Given the description of an element on the screen output the (x, y) to click on. 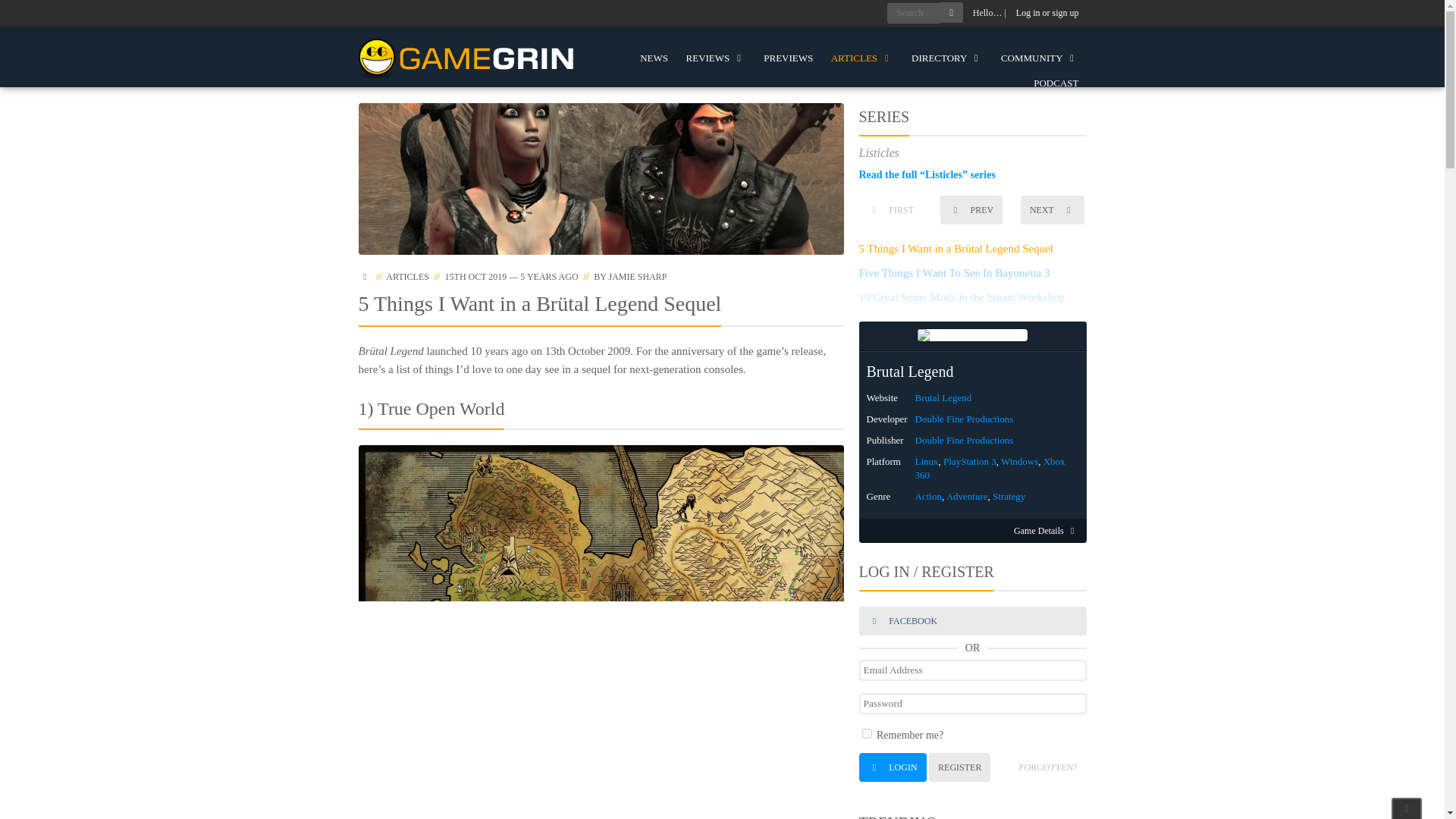
ARTICLES (862, 57)
REVIEWS (716, 57)
NEWS (653, 57)
DIRECTORY (947, 57)
COMMUNITY (1039, 57)
1 (865, 733)
Password (972, 703)
Log in or sign up (1047, 13)
